Given the description of an element on the screen output the (x, y) to click on. 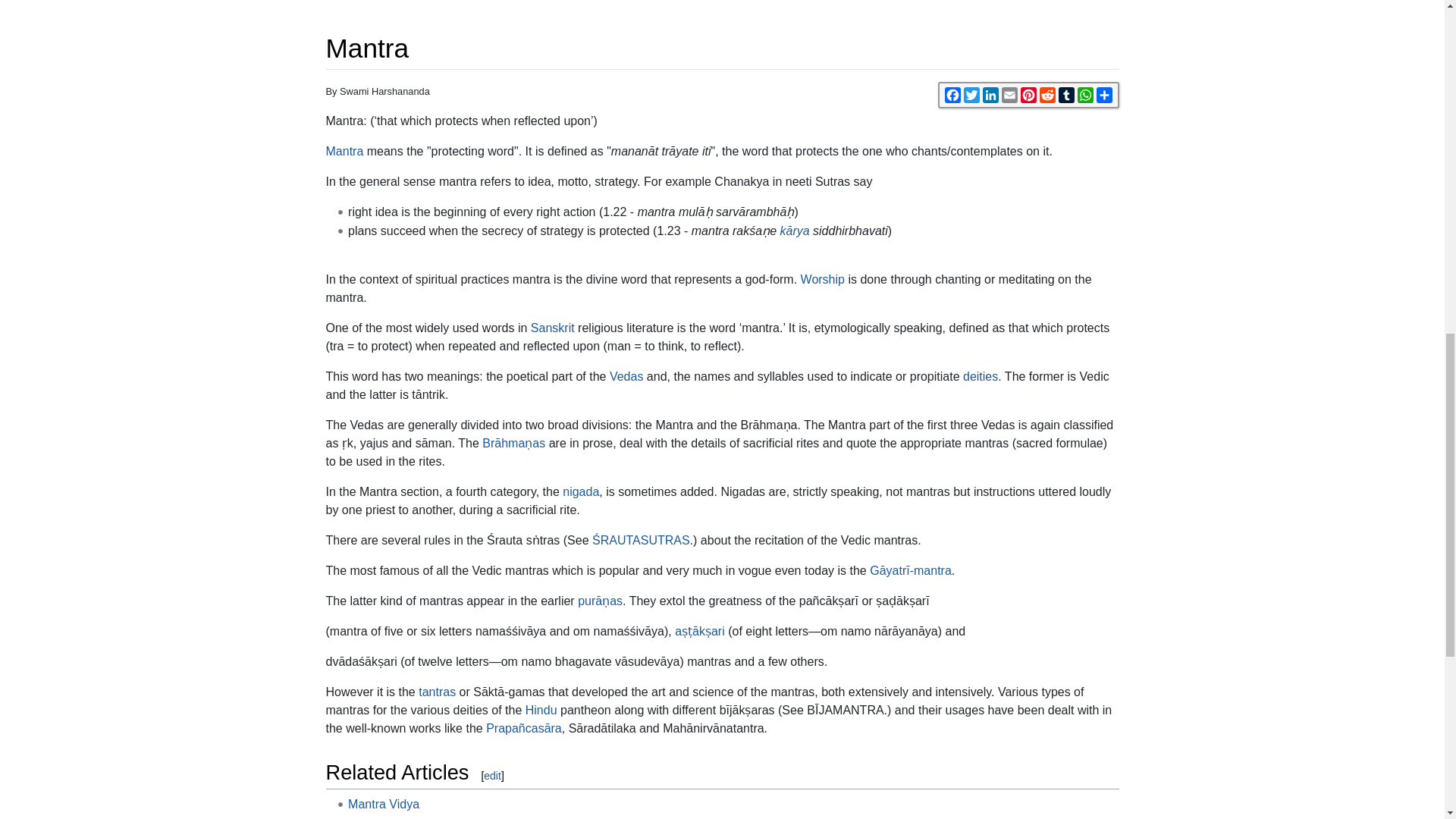
Vedas (626, 376)
Vedas (626, 376)
tantras (437, 691)
edit (491, 775)
Mantra Marga (385, 818)
Tumblr (1066, 94)
Worship (822, 278)
Mantra Vidya (383, 803)
Hindu (541, 709)
LinkedIn (990, 94)
